Given the description of an element on the screen output the (x, y) to click on. 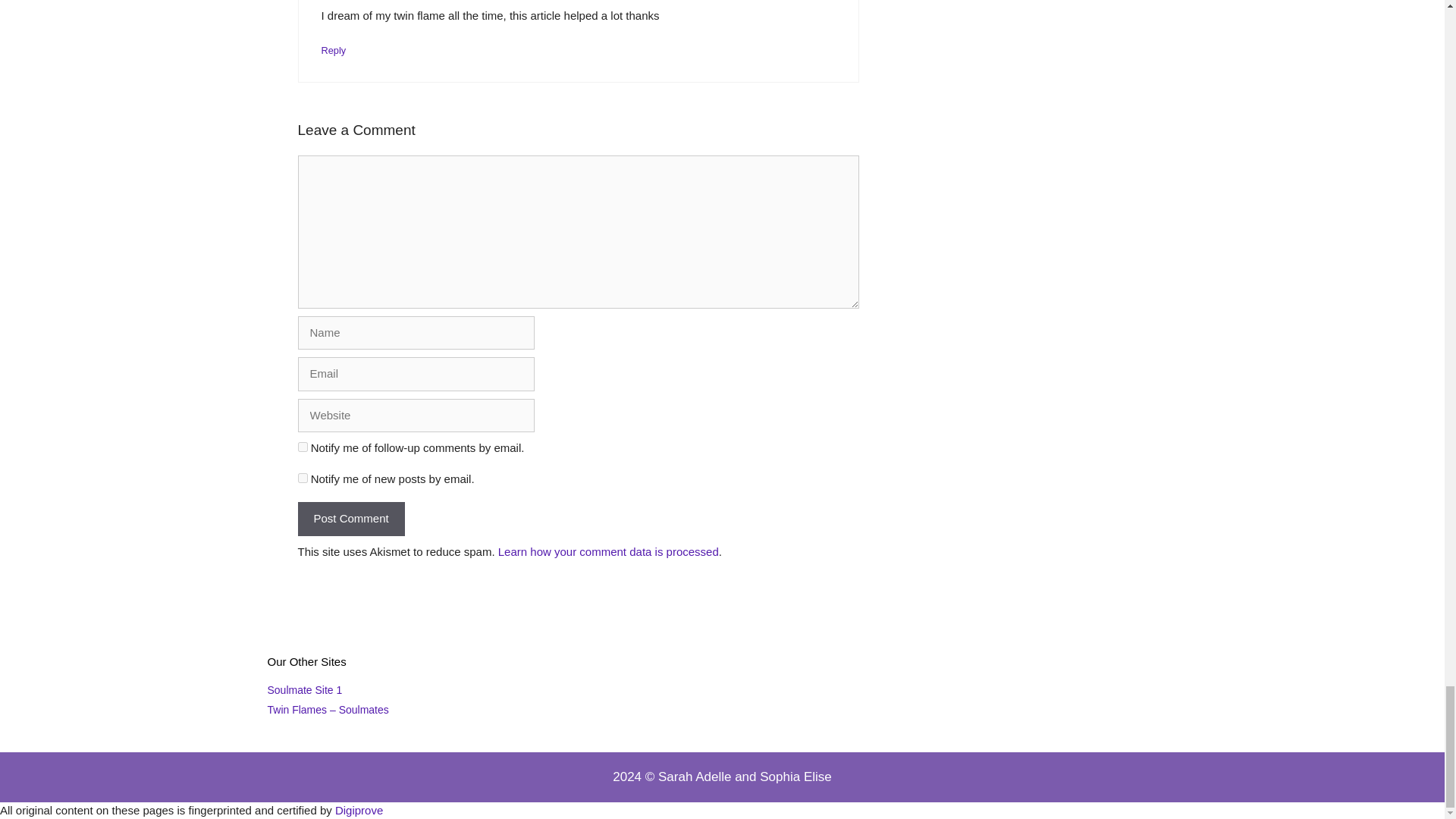
subscribe (302, 478)
subscribe (302, 447)
Post Comment (350, 519)
